Given the description of an element on the screen output the (x, y) to click on. 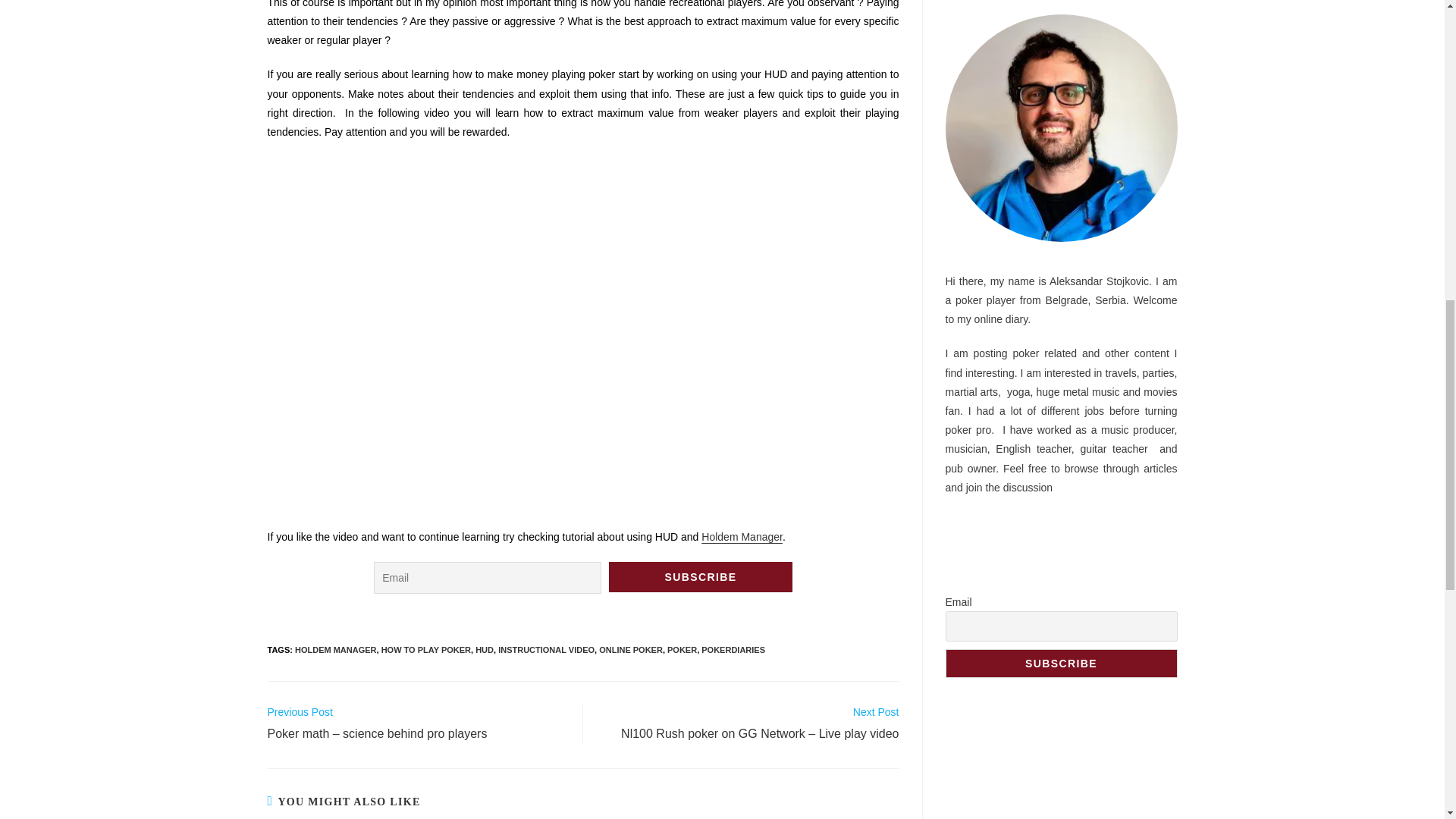
HOLDEM MANAGER (336, 649)
Subscribe (700, 576)
Subscribe (700, 576)
Holdem Manager (742, 536)
Subscribe (1060, 663)
HOW TO PLAY POKER (425, 649)
